Given the description of an element on the screen output the (x, y) to click on. 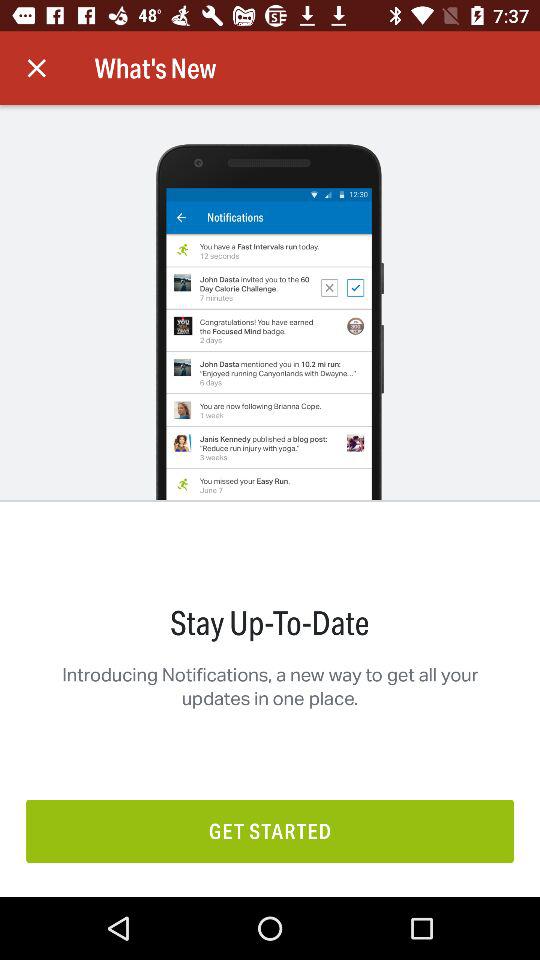
tap item to the left of what's new icon (36, 68)
